Given the description of an element on the screen output the (x, y) to click on. 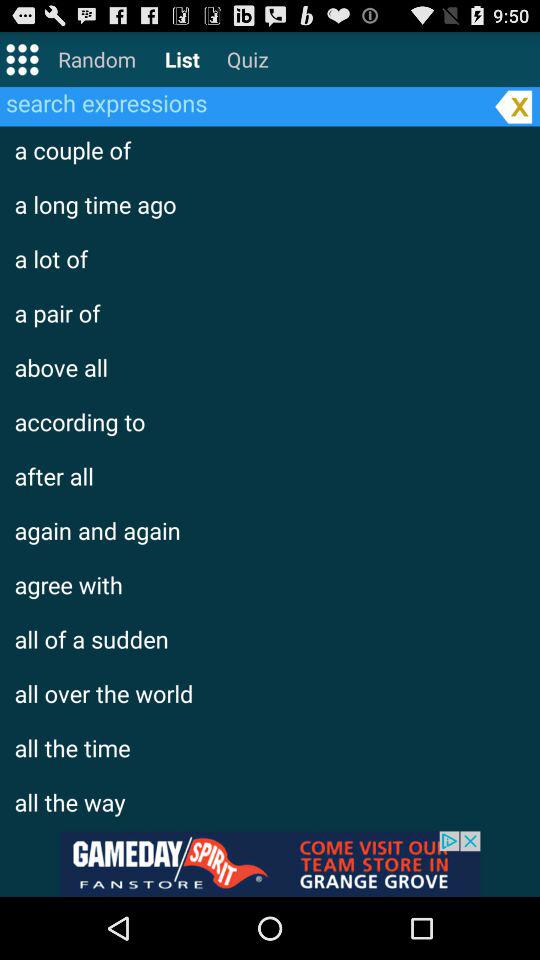
close the search bar (513, 106)
